Given the description of an element on the screen output the (x, y) to click on. 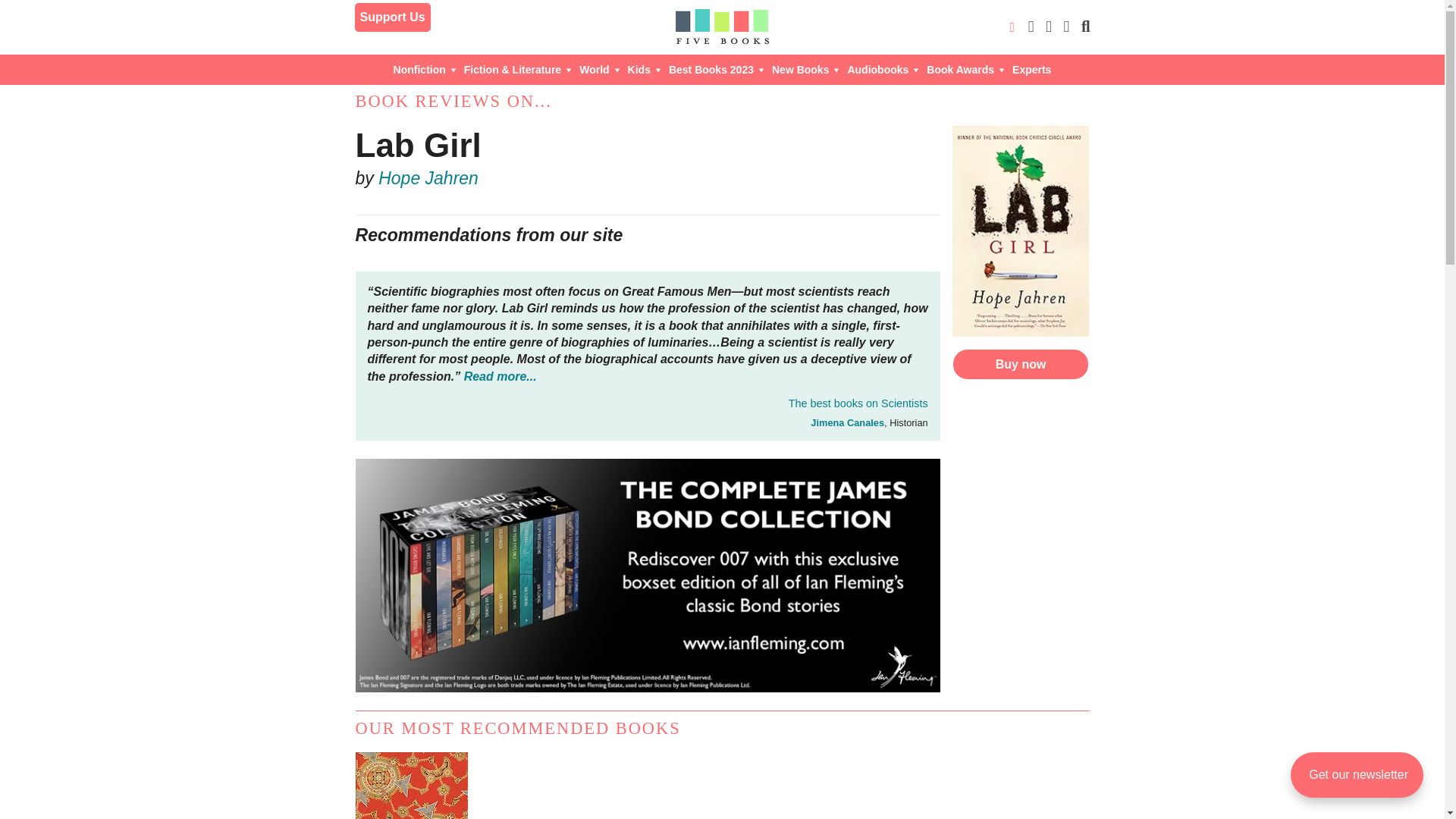
Nonfiction (425, 69)
Support Us (392, 17)
